Given the description of an element on the screen output the (x, y) to click on. 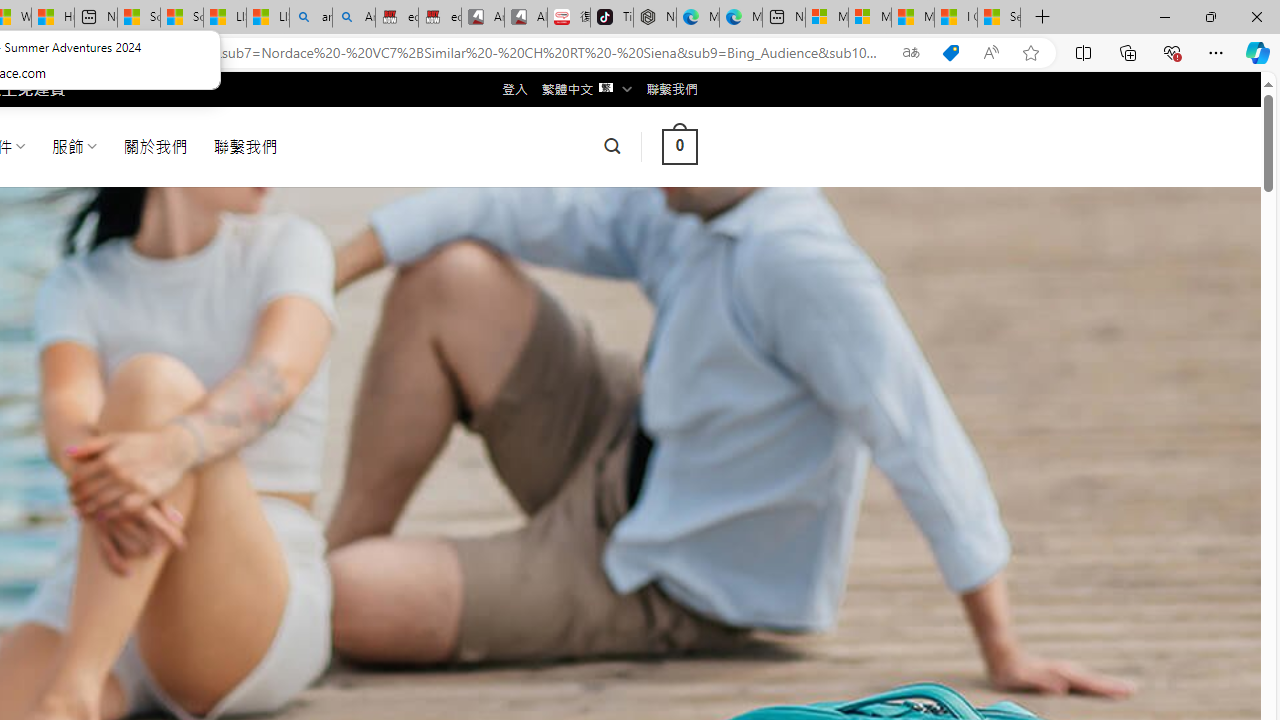
amazon - Search (310, 17)
Microsoft account | Privacy (869, 17)
This site has coupons! Shopping in Microsoft Edge (950, 53)
